Given the description of an element on the screen output the (x, y) to click on. 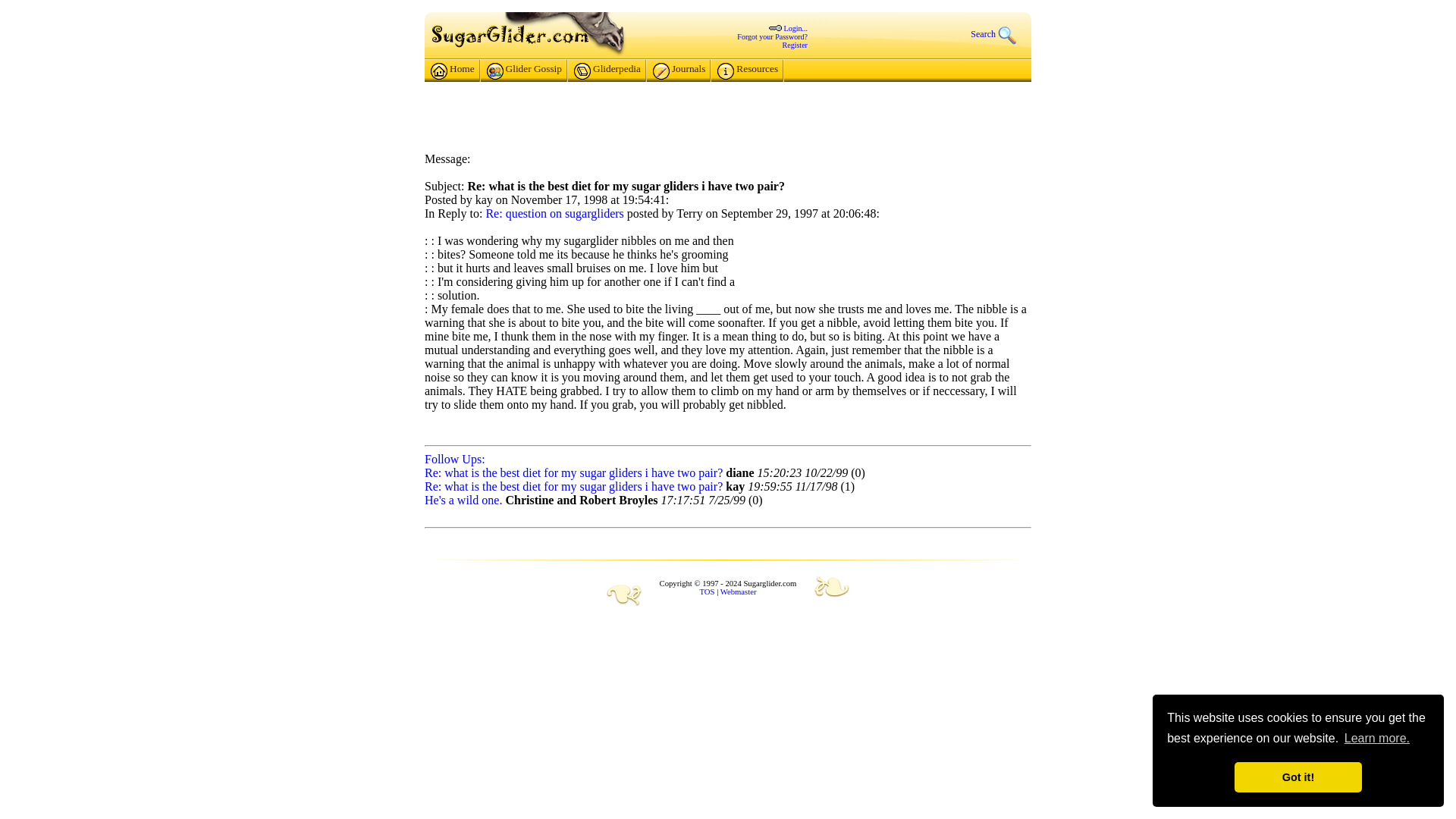
TOS (707, 592)
Login... (796, 28)
He's a wild one. (463, 499)
Register (795, 44)
Glider Gossip (524, 71)
Webmaster (738, 592)
Journals (678, 71)
Got it! (1297, 777)
Follow Ups: (454, 459)
Gliderpedia (606, 71)
Forgot your Password? (772, 36)
Resources (747, 71)
Search (1000, 33)
Re: question on sugargliders (553, 213)
